Given the description of an element on the screen output the (x, y) to click on. 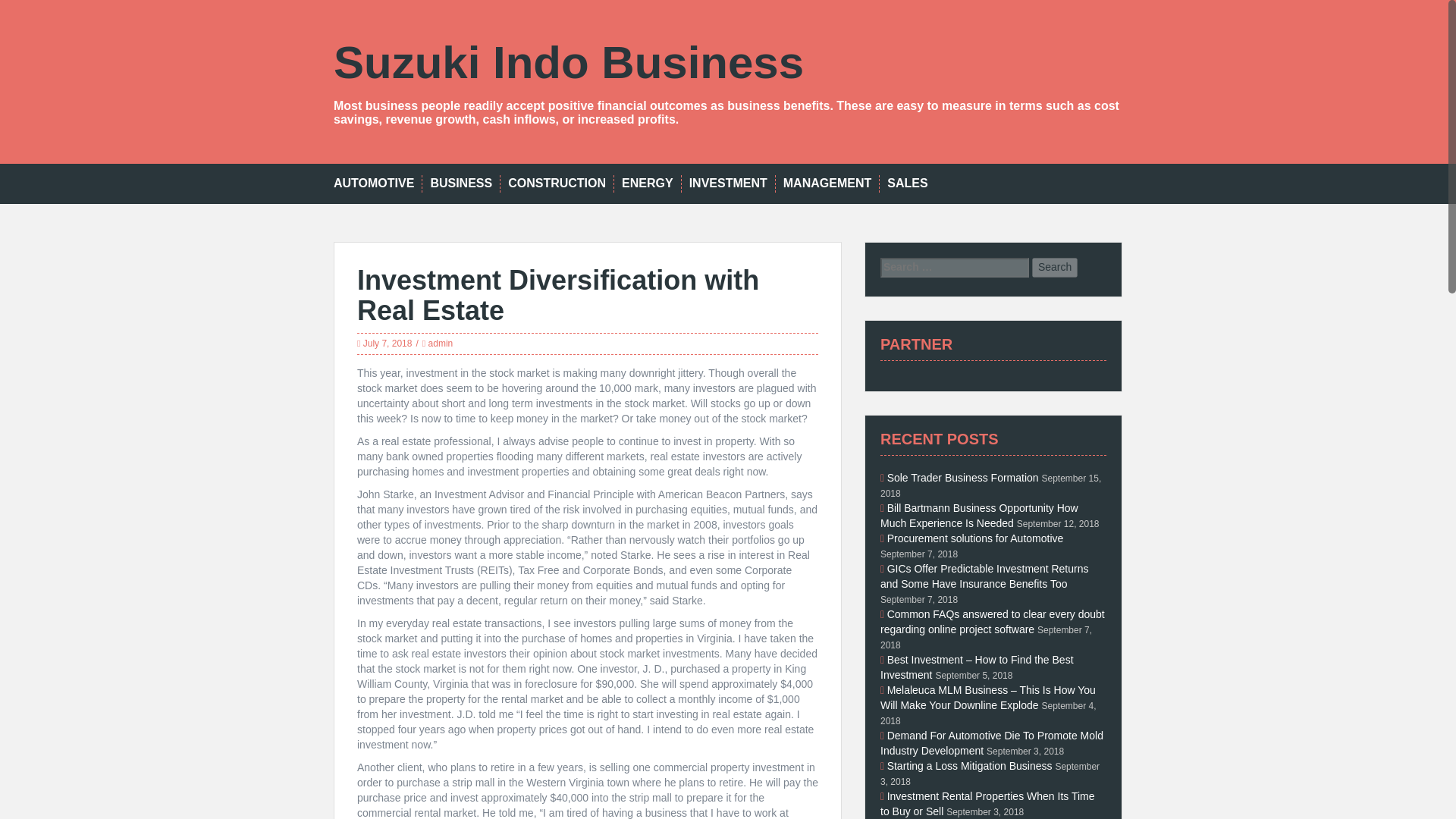
Search (1054, 267)
SALES (906, 183)
Investment Rental Properties When Its Time to Buy or Sell (987, 803)
admin (440, 343)
Procurement solutions for Automotive (975, 538)
CONSTRUCTION (556, 183)
July 7, 2018 (387, 343)
Sole Trader Business Formation (962, 477)
Search (1054, 267)
BUSINESS (460, 183)
Search (1054, 267)
MANAGEMENT (826, 183)
